Given the description of an element on the screen output the (x, y) to click on. 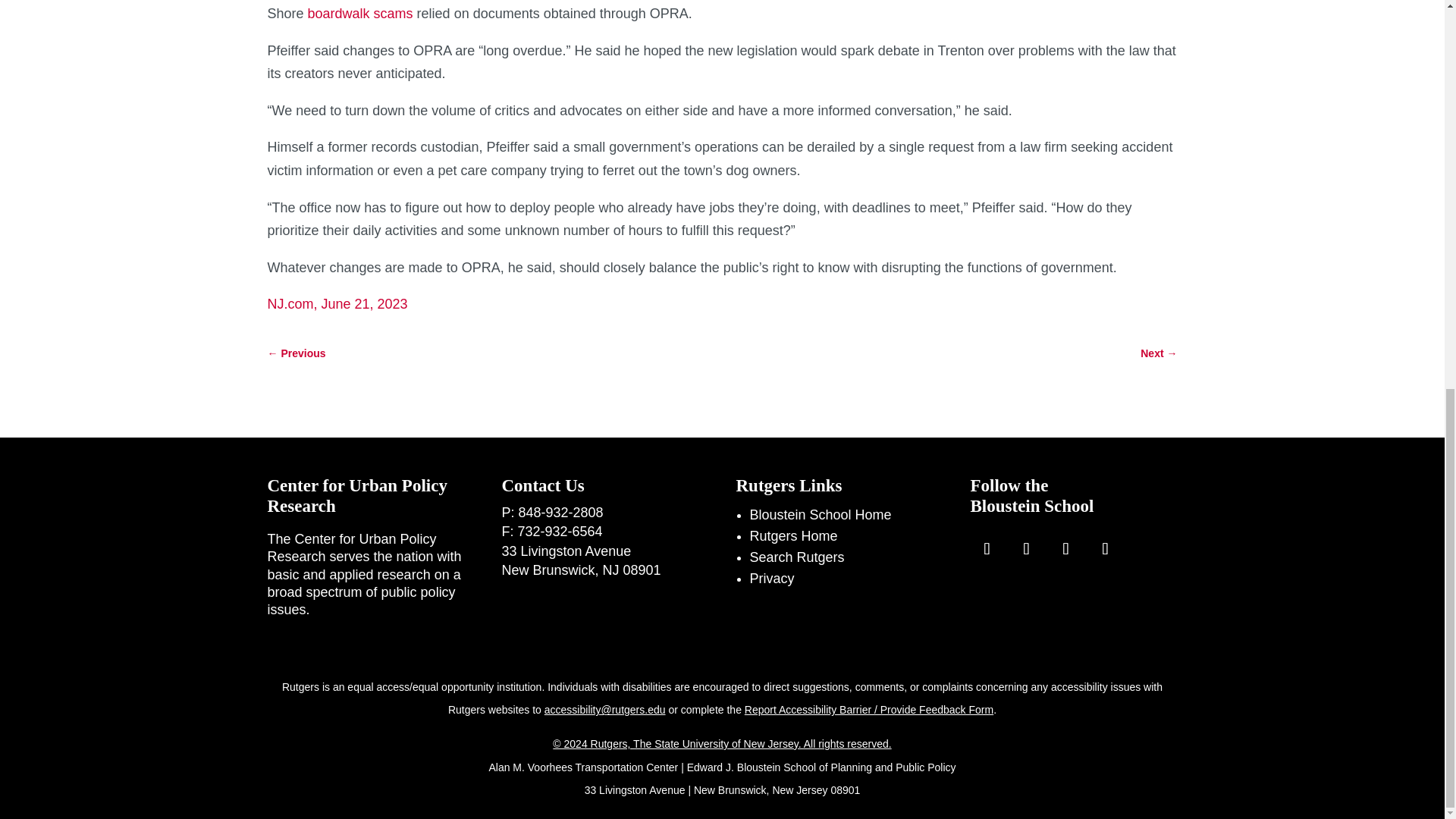
Follow on Twitter (1066, 548)
Follow on LinkedIn (1105, 548)
Follow on Instagram (1026, 548)
Follow on Facebook (987, 548)
